Given the description of an element on the screen output the (x, y) to click on. 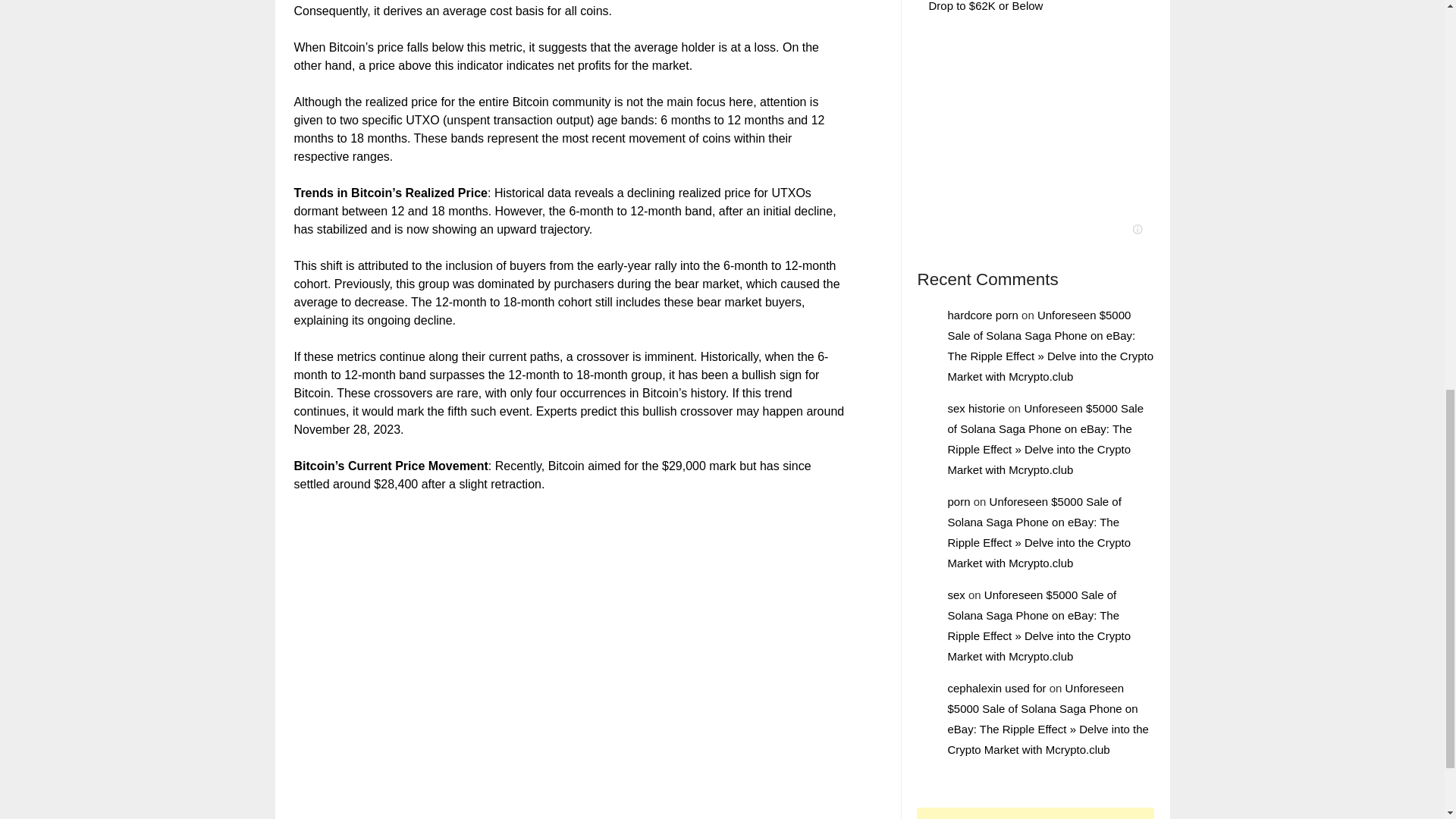
cephalexin used for (996, 687)
porn (958, 501)
sex historie (975, 408)
sex (955, 594)
hardcore porn (982, 314)
